Given the description of an element on the screen output the (x, y) to click on. 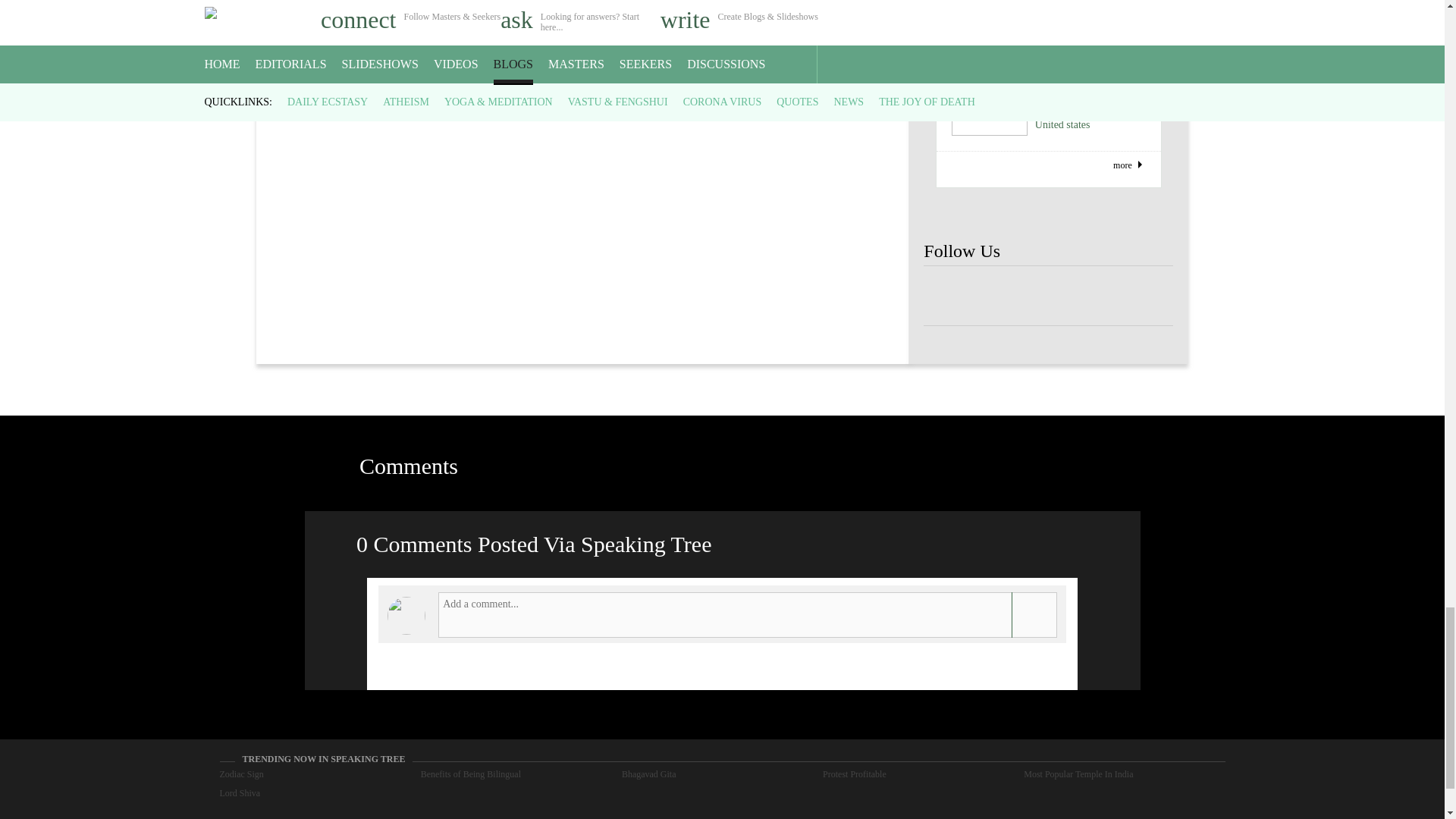
Speaking Tree FaceBook (948, 296)
Speaking Tree FaceBook (1147, 296)
Speaking Tree FaceBook (1048, 296)
Speaking Tree FaceBook (998, 296)
Speaking Tree FaceBook (1099, 296)
